Given the description of an element on the screen output the (x, y) to click on. 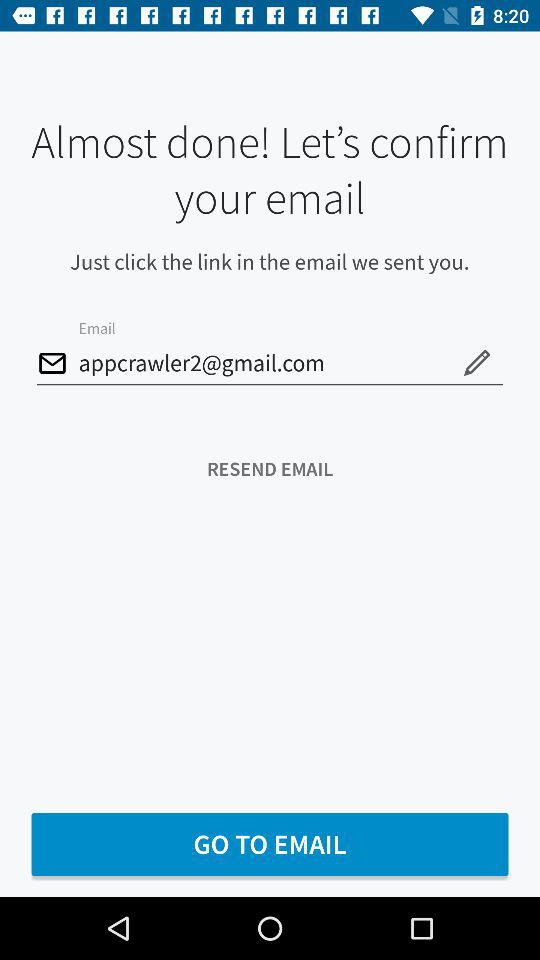
open icon above resend email (476, 362)
